Given the description of an element on the screen output the (x, y) to click on. 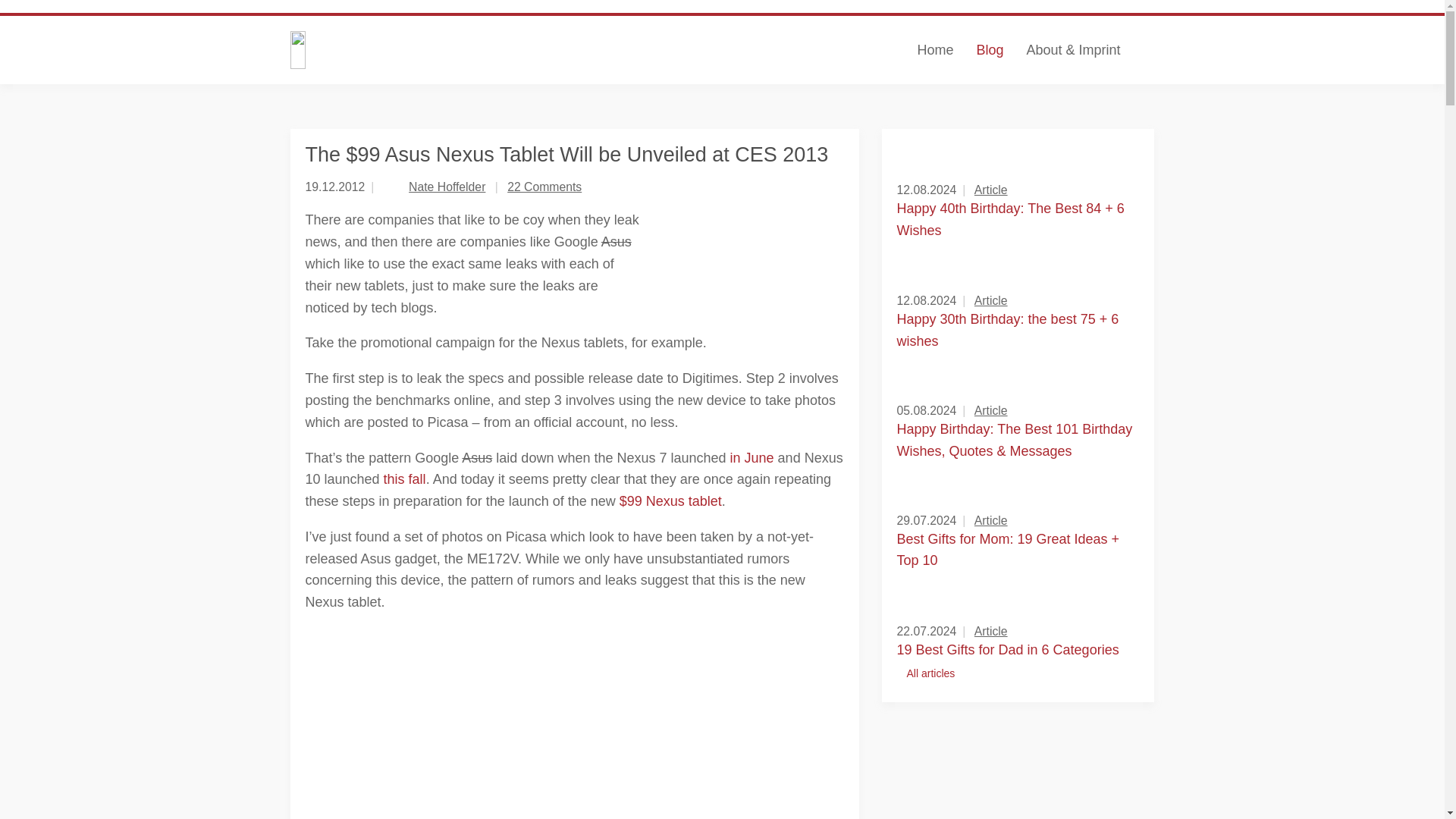
this fall (405, 478)
22 Comments (543, 186)
Blog (988, 49)
in June (752, 458)
Home (934, 49)
Nate Hoffelder (446, 186)
The Digital Reader (437, 49)
